Given the description of an element on the screen output the (x, y) to click on. 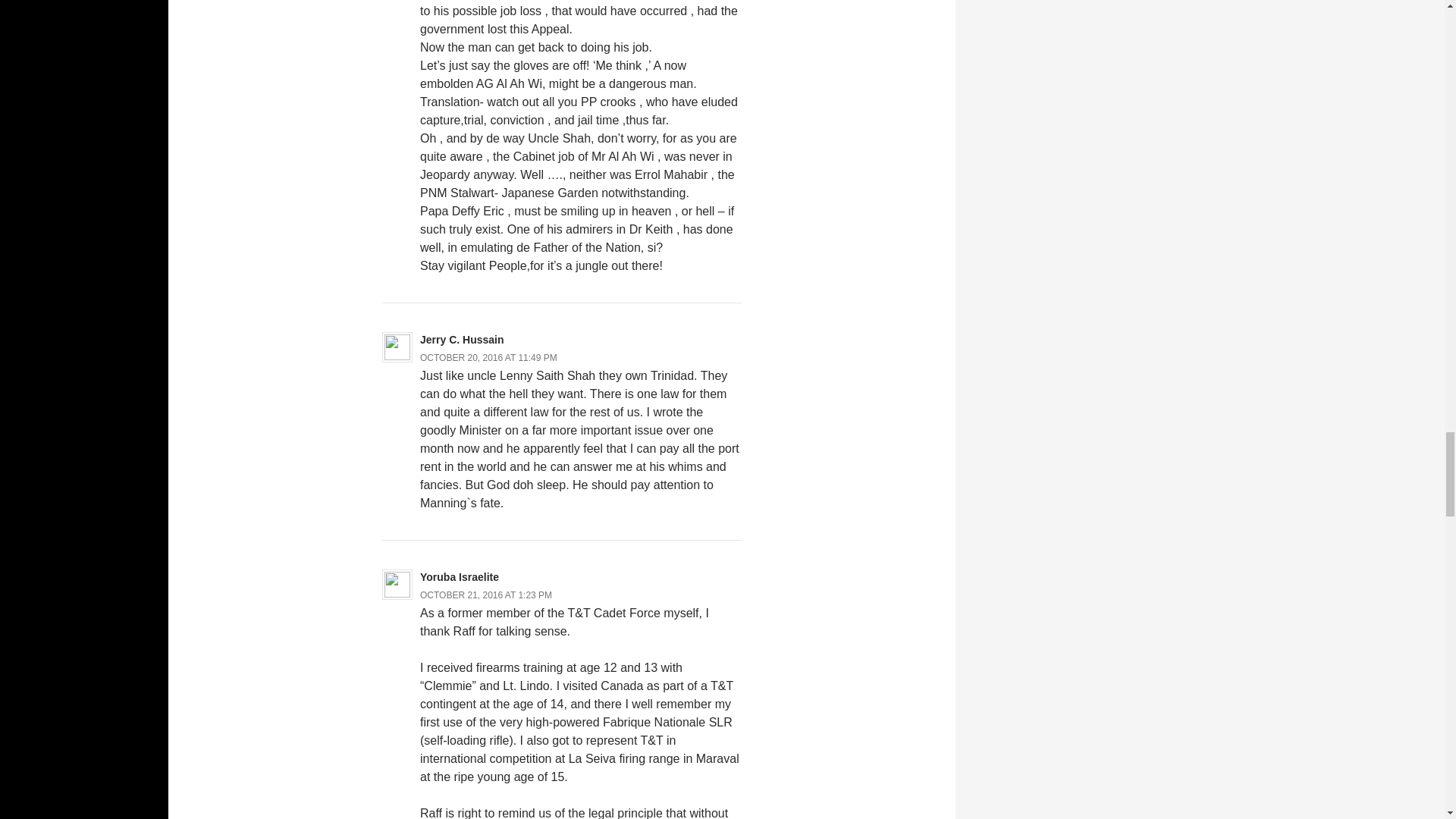
OCTOBER 20, 2016 AT 11:49 PM (488, 357)
OCTOBER 21, 2016 AT 1:23 PM (485, 594)
